Given the description of an element on the screen output the (x, y) to click on. 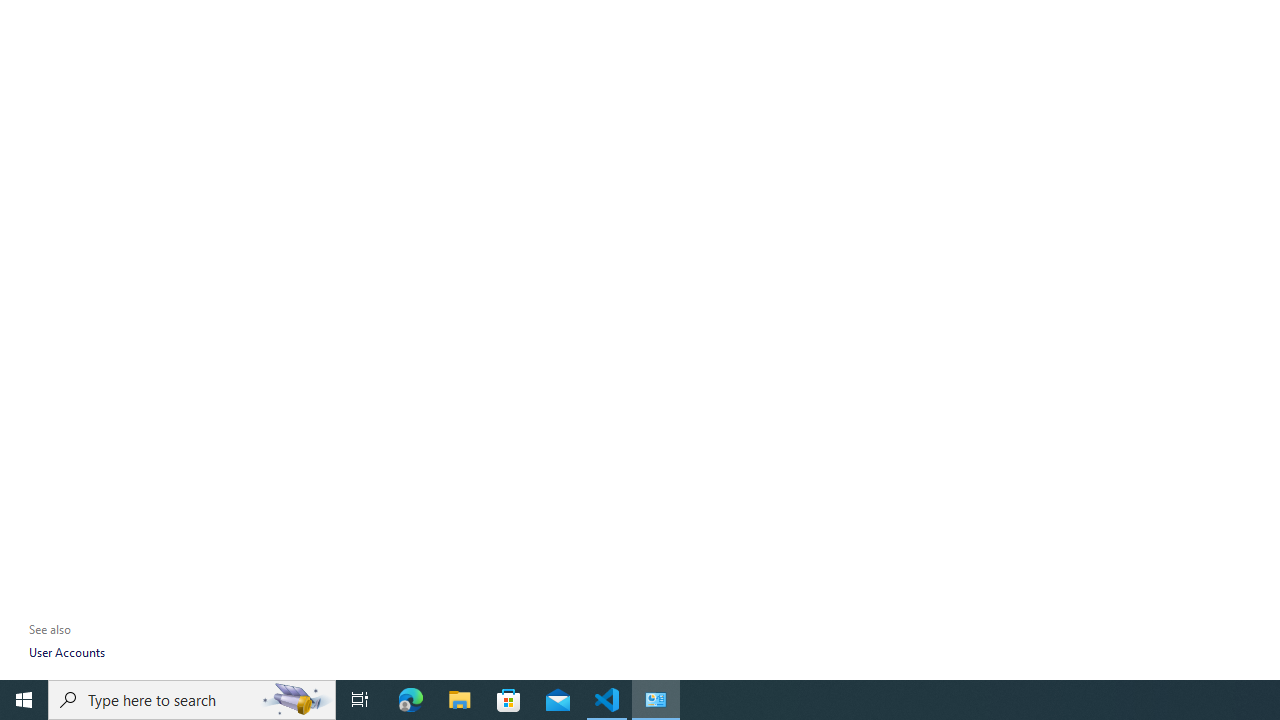
User Accounts (66, 652)
Control Panel - 1 running window (656, 699)
